Given the description of an element on the screen output the (x, y) to click on. 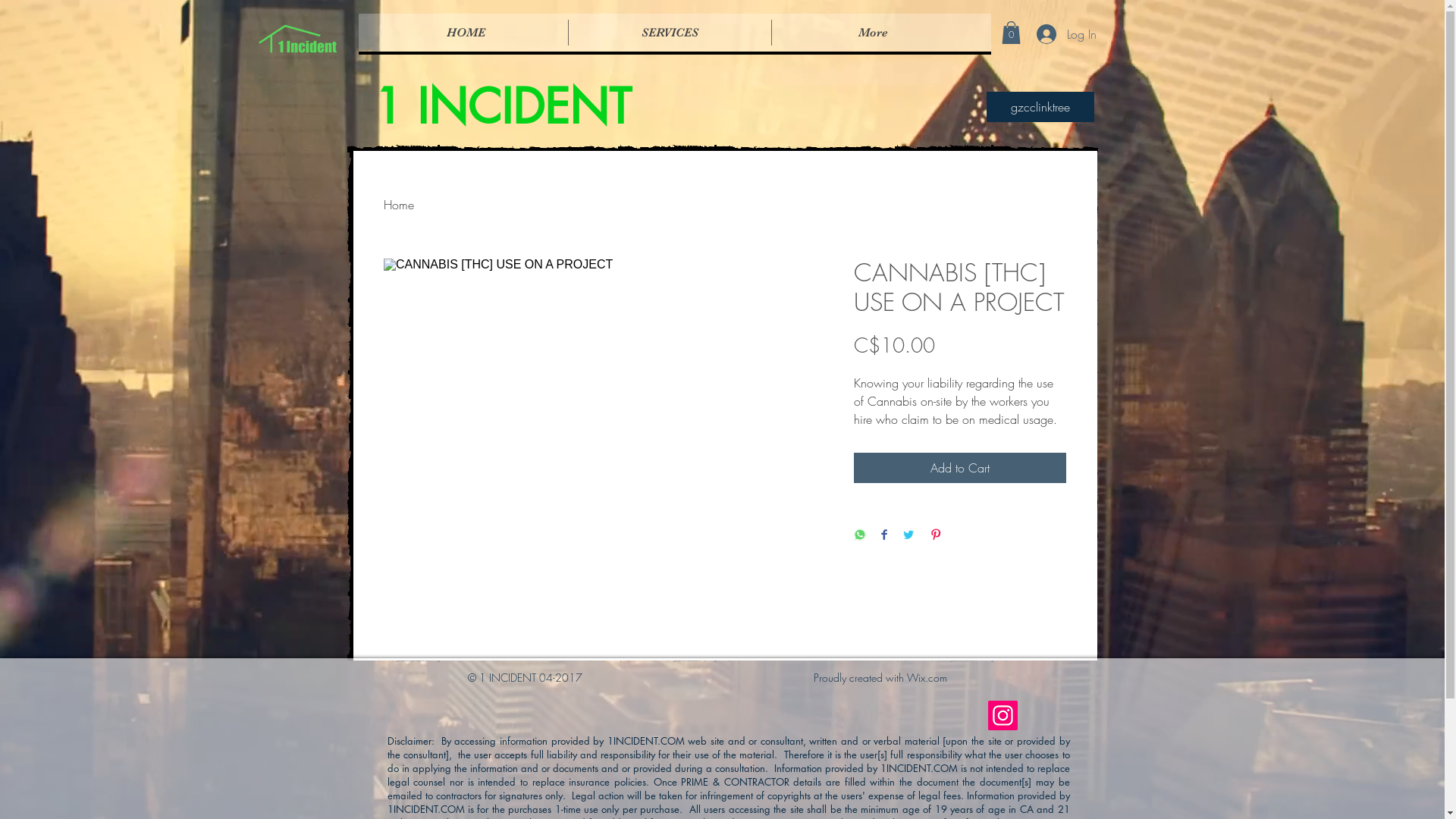
SERVICES Element type: text (668, 32)
HOME Element type: text (465, 32)
Add to Cart Element type: text (959, 467)
0 Element type: text (1010, 32)
gzcclinktree Element type: text (1039, 106)
Log In Element type: text (1056, 33)
Home Element type: text (398, 204)
Wix.com Element type: text (926, 677)
